Given the description of an element on the screen output the (x, y) to click on. 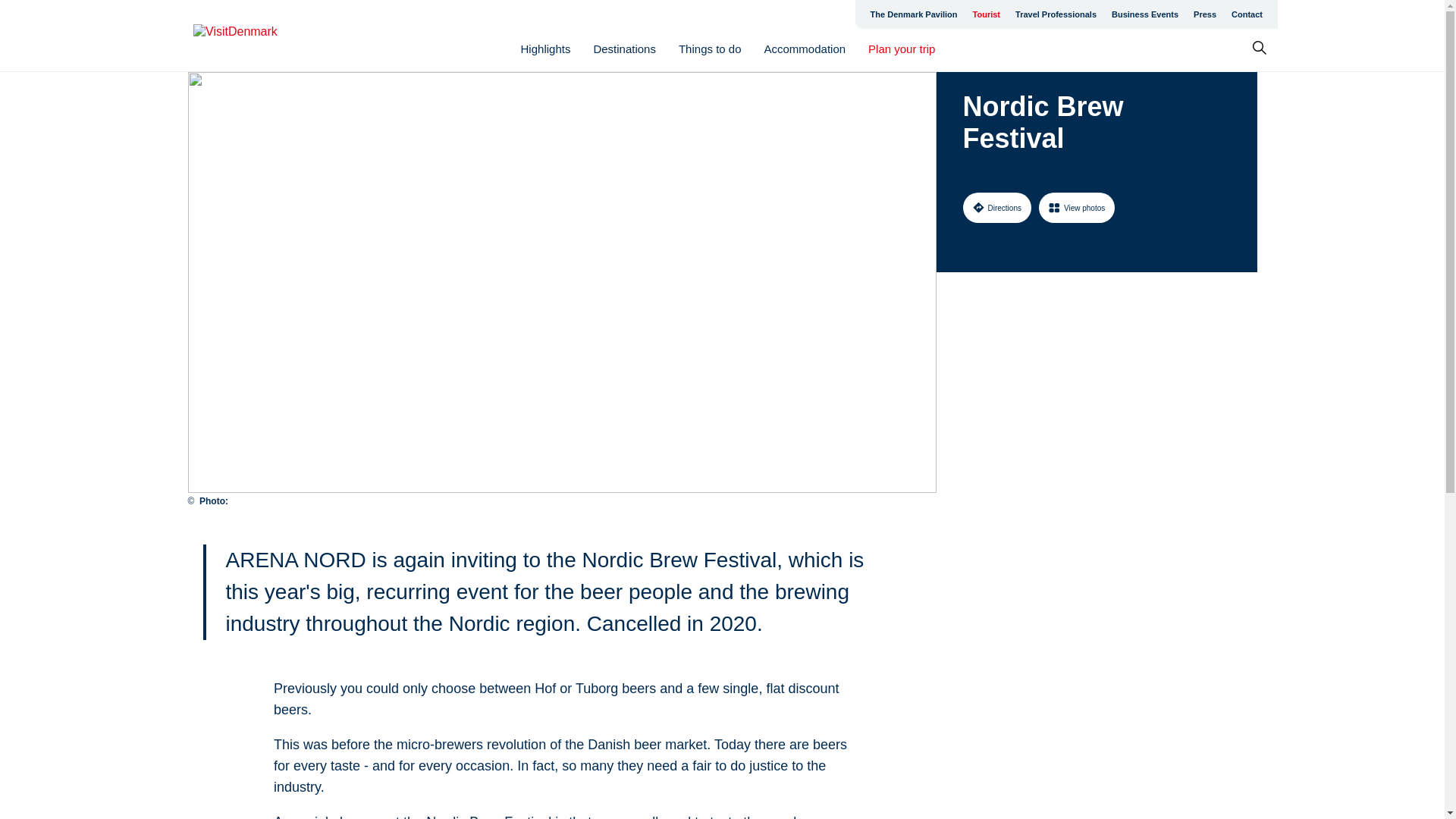
Directions (996, 207)
Tourist (986, 14)
View photos (1077, 207)
Business Events (1144, 14)
Press (1205, 14)
Plan your trip (900, 48)
The Denmark Pavilion (914, 14)
Accommodation (804, 48)
Things to do (709, 48)
Destinations (624, 48)
